Given the description of an element on the screen output the (x, y) to click on. 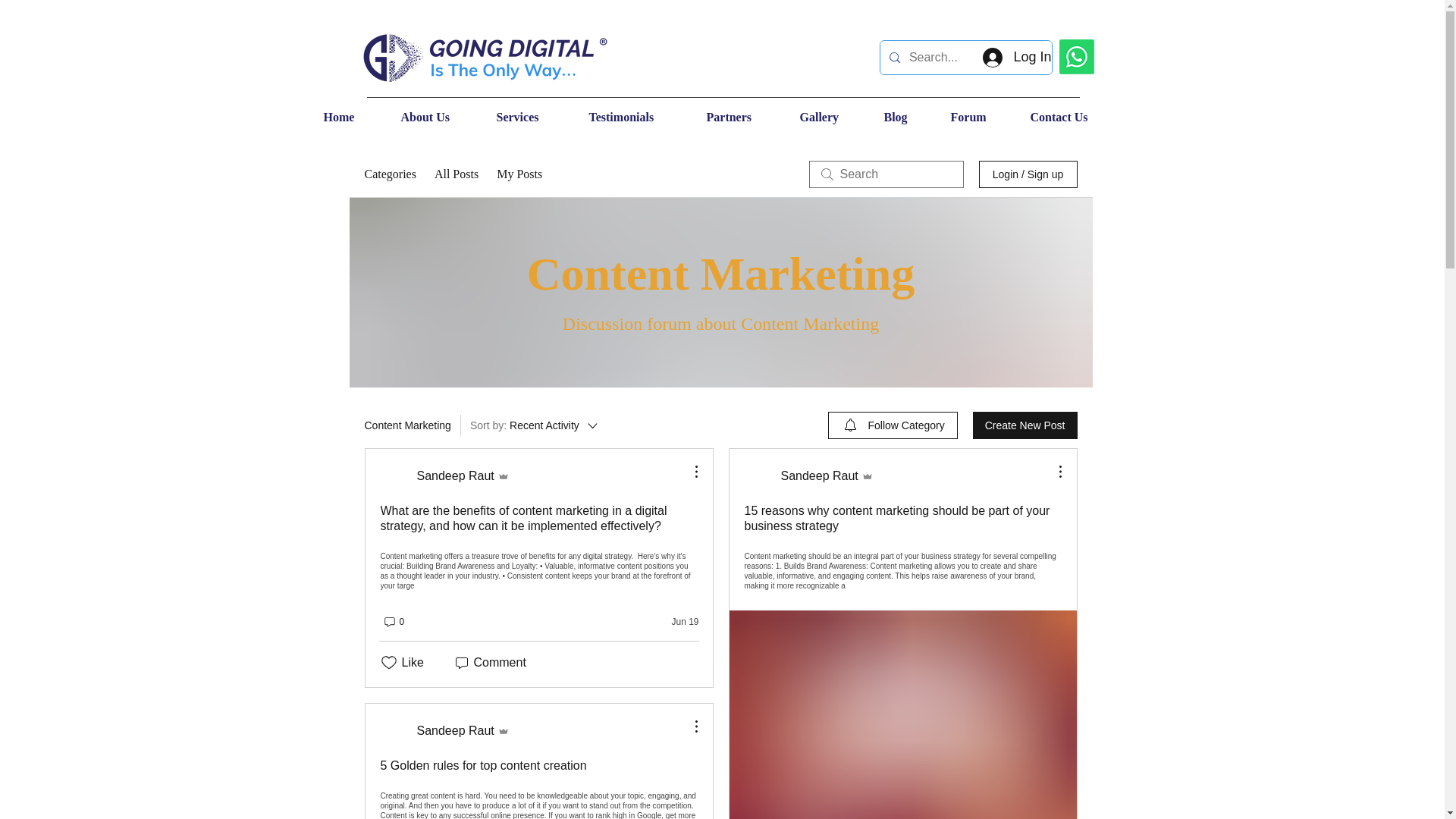
Partners (745, 117)
Create New Post (1024, 424)
Categories (389, 174)
Sandeep Raut (444, 730)
Blog (909, 117)
All Posts (534, 425)
Forum (456, 174)
